Given the description of an element on the screen output the (x, y) to click on. 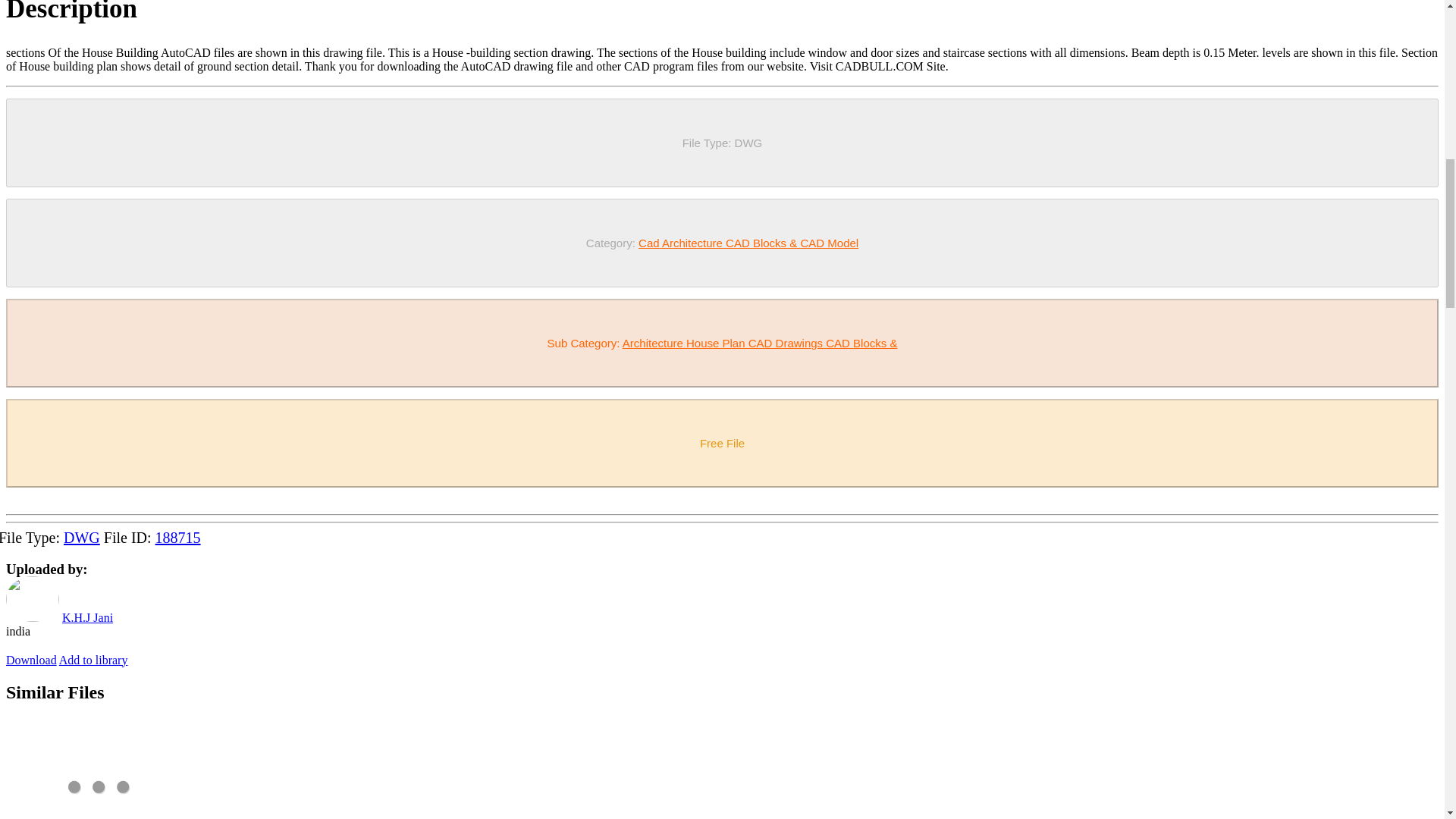
Add to library (93, 659)
DWG (82, 537)
Download (30, 659)
K.H.J Jani (87, 617)
188715 (177, 537)
